Given the description of an element on the screen output the (x, y) to click on. 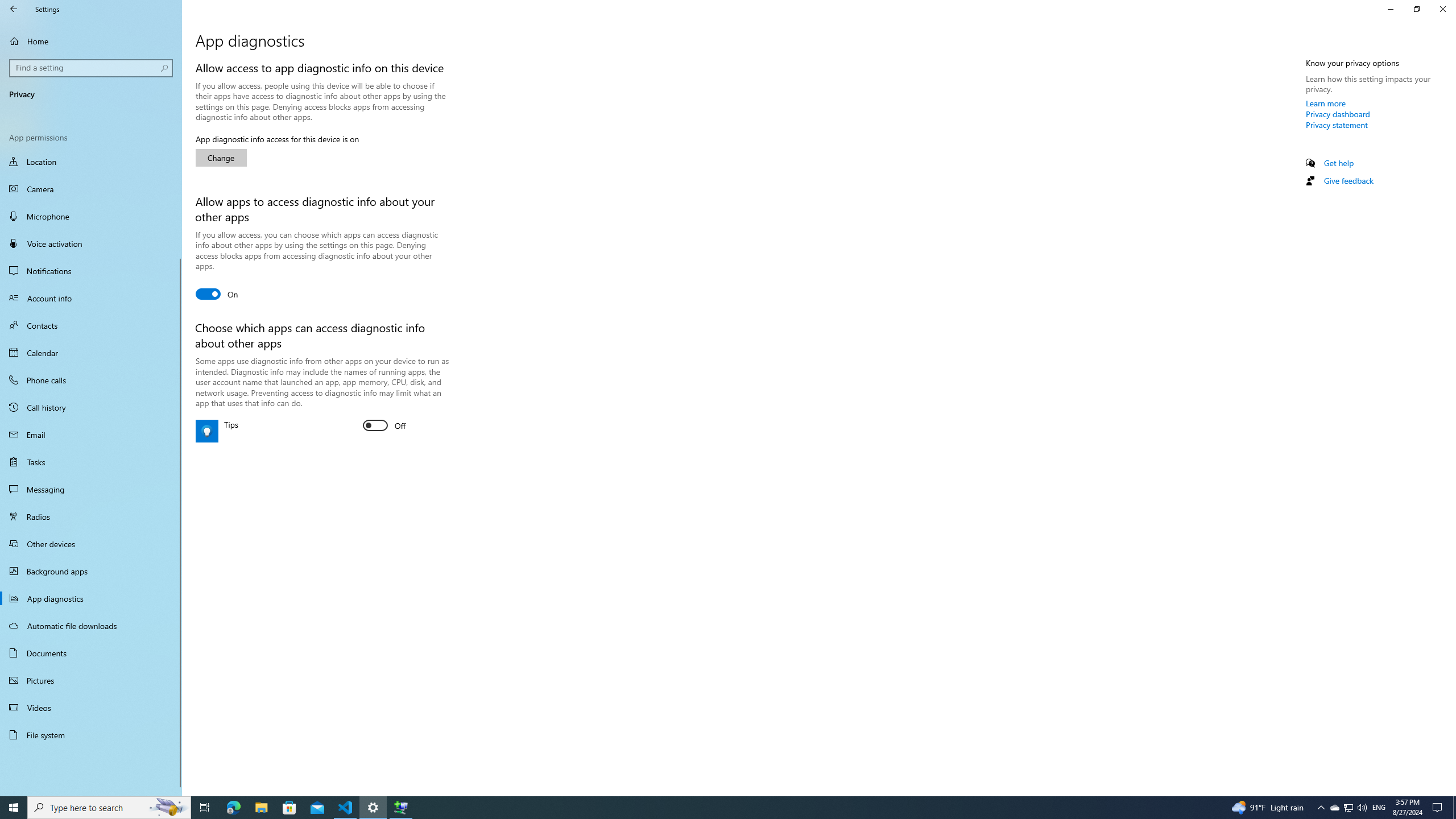
File Explorer (261, 807)
Camera (91, 188)
Notification Chevron (1320, 807)
Type here to search (108, 807)
User Promoted Notification Area (1347, 807)
Back (13, 9)
Action Center, No new notifications (1333, 807)
Messaging (1439, 807)
Change (91, 488)
Location (221, 157)
Calendar (91, 162)
Show desktop (91, 352)
Task View (1454, 807)
Account info (204, 807)
